Given the description of an element on the screen output the (x, y) to click on. 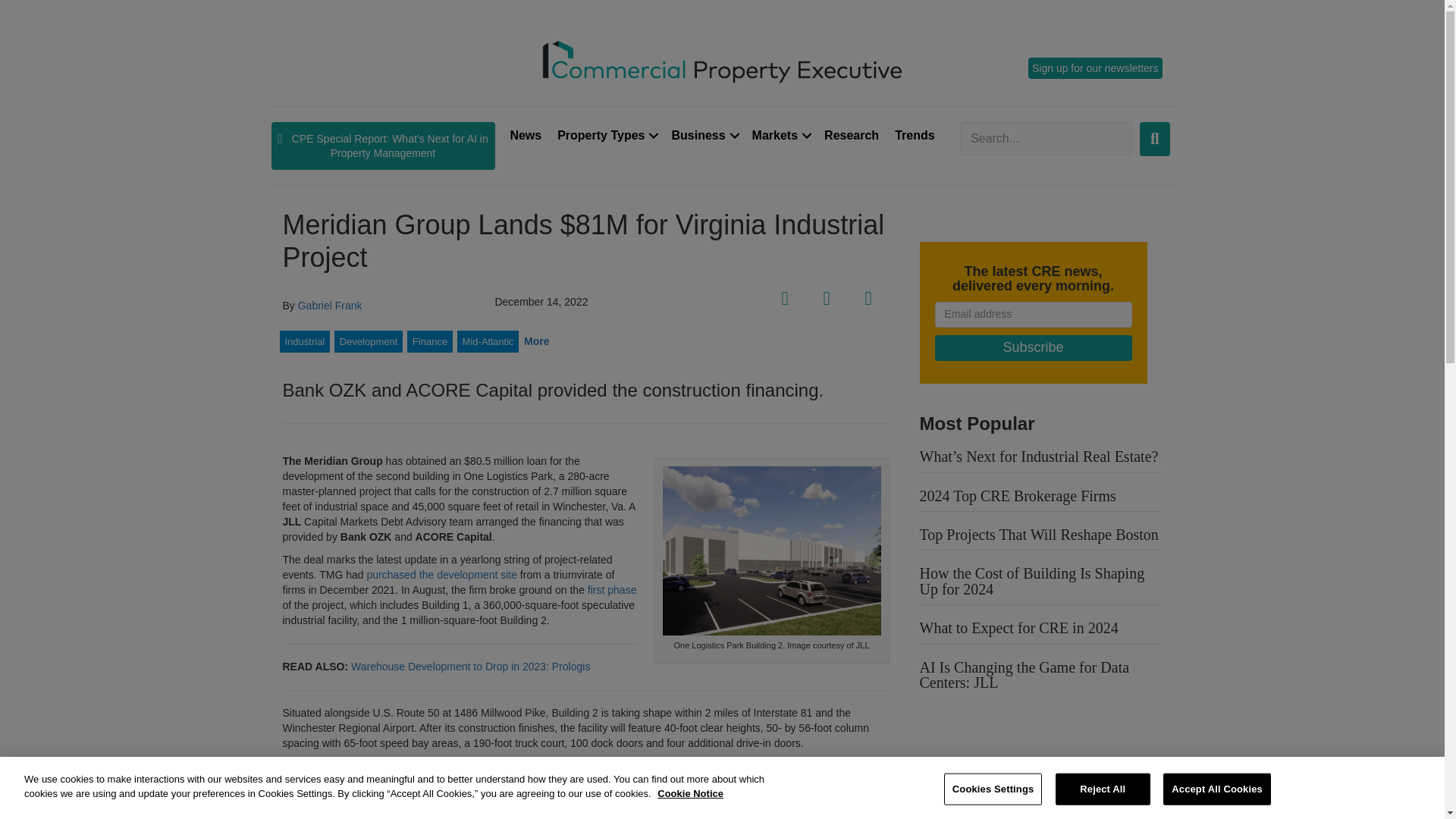
Sign up for our newsletters (1094, 67)
CPE-Logo-Transparent (721, 60)
Business (702, 135)
News (525, 135)
Property Types (606, 135)
Markets (779, 135)
Subscribe (1032, 347)
